Given the description of an element on the screen output the (x, y) to click on. 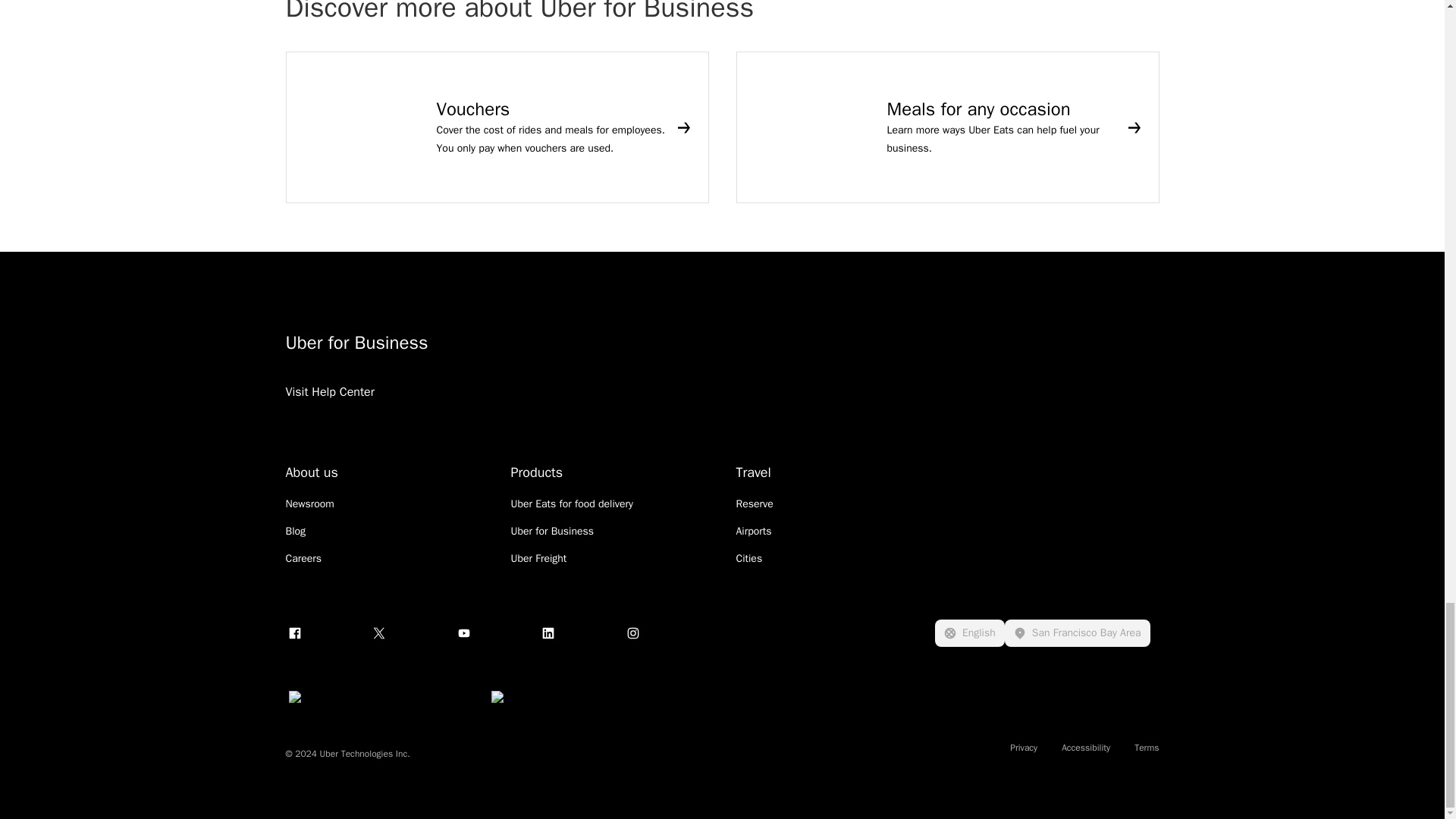
English (969, 633)
About us (311, 472)
Visit Help Center (329, 410)
Newsroom (309, 503)
Uber Eats for food delivery (572, 503)
Accessibility (1085, 747)
San Francisco Bay Area (1077, 633)
Cities (748, 558)
Terms (1146, 747)
Reserve (754, 503)
Blog (295, 531)
Uber for Business (572, 342)
Privacy (1023, 747)
